Given the description of an element on the screen output the (x, y) to click on. 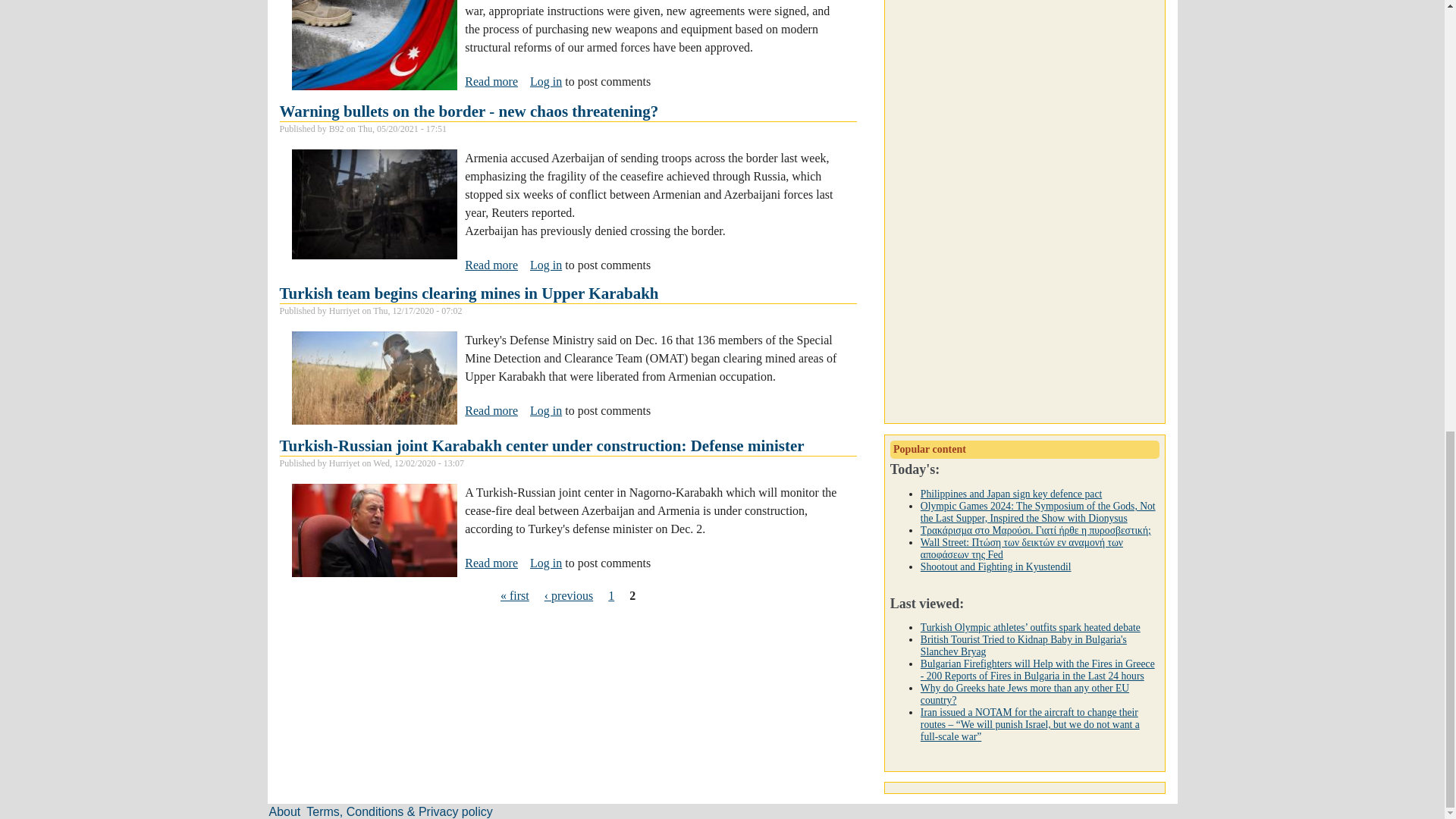
Warning bullets on the border - new chaos threatening? (468, 111)
Log in (545, 81)
Turkish team begins clearing mines in Upper Karabakh (491, 81)
Log in (468, 293)
